Given the description of an element on the screen output the (x, y) to click on. 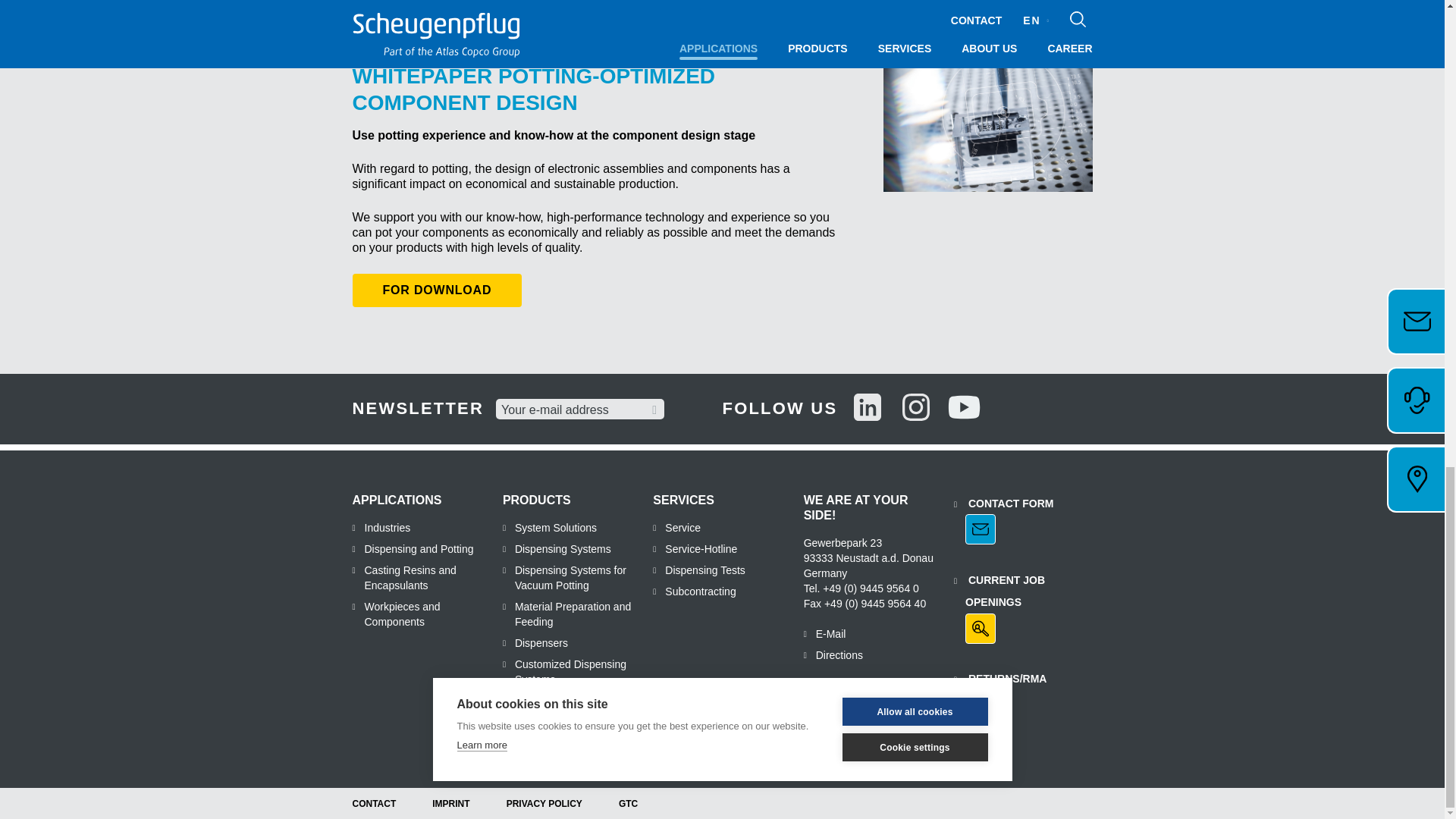
Contact Form (1002, 519)
LinkedIn (866, 409)
YouTube (964, 409)
Current job openings (1022, 605)
Instagram (916, 409)
